Given the description of an element on the screen output the (x, y) to click on. 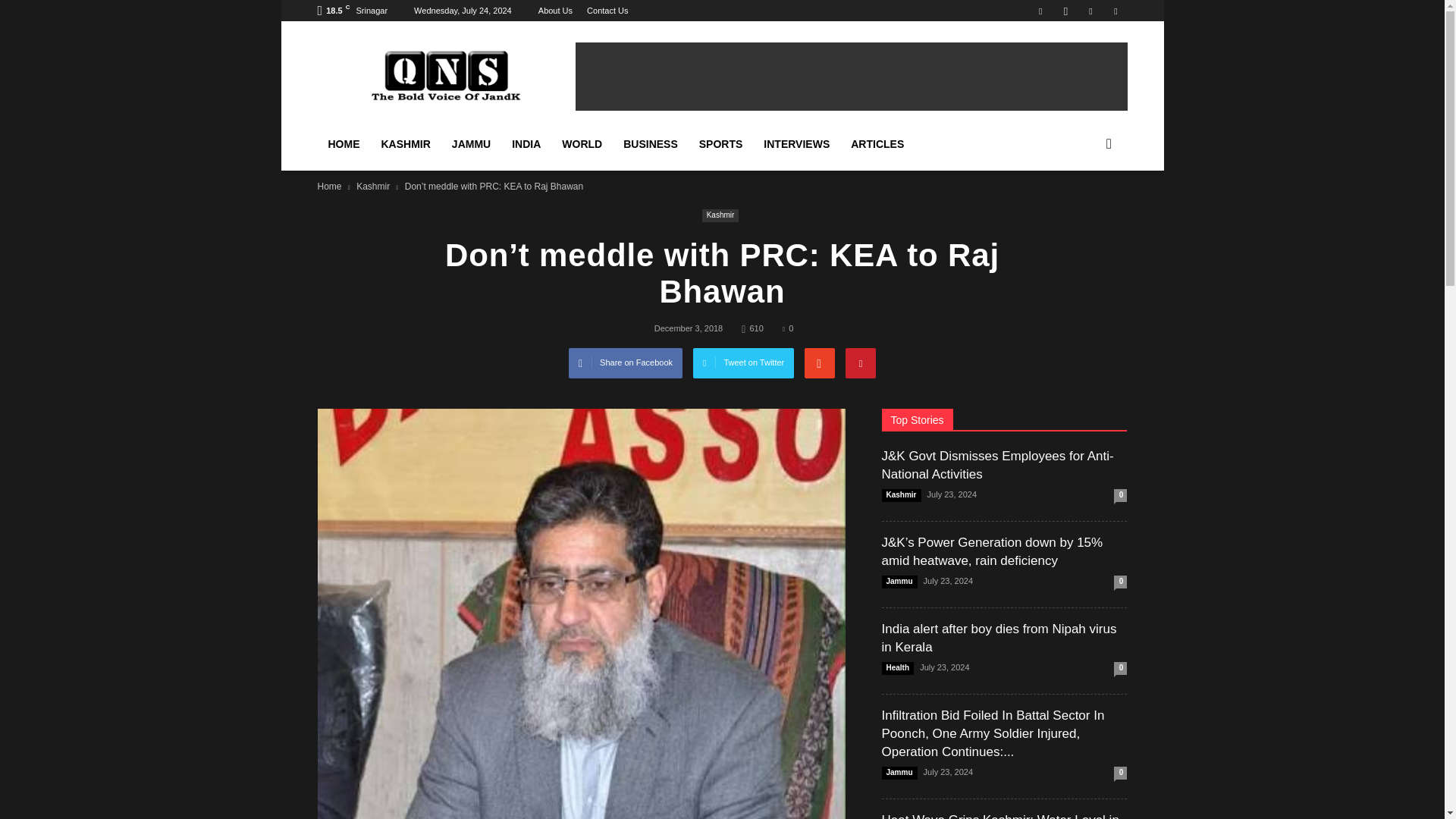
About Us (555, 10)
HOME (343, 143)
INTERVIEWS (796, 143)
View all posts in Kashmir (373, 185)
Contact Us (606, 10)
WORLD (581, 143)
Kashmir (720, 215)
Search (1083, 213)
Advertisement (850, 76)
ARTICLES (877, 143)
SPORTS (721, 143)
Home (328, 185)
JAMMU (470, 143)
Kashmir (373, 185)
